Given the description of an element on the screen output the (x, y) to click on. 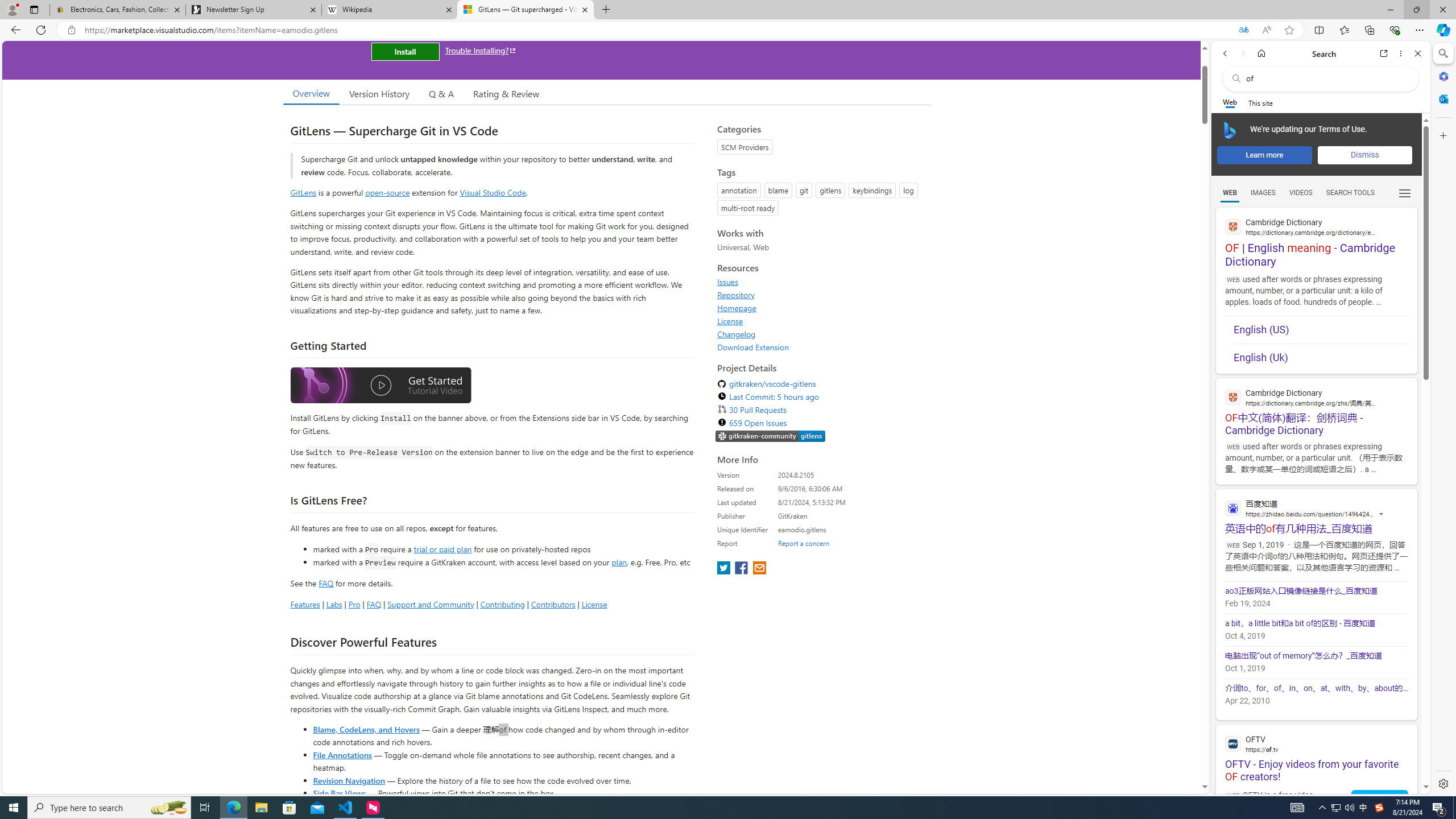
Pro (354, 603)
trial or paid plan (442, 548)
Repository (820, 294)
Blame, CodeLens, and Hovers (366, 728)
Newsletter Sign Up (253, 9)
Support and Community (430, 603)
Rating & Review (505, 92)
Install (405, 51)
Contributors (552, 603)
